Given the description of an element on the screen output the (x, y) to click on. 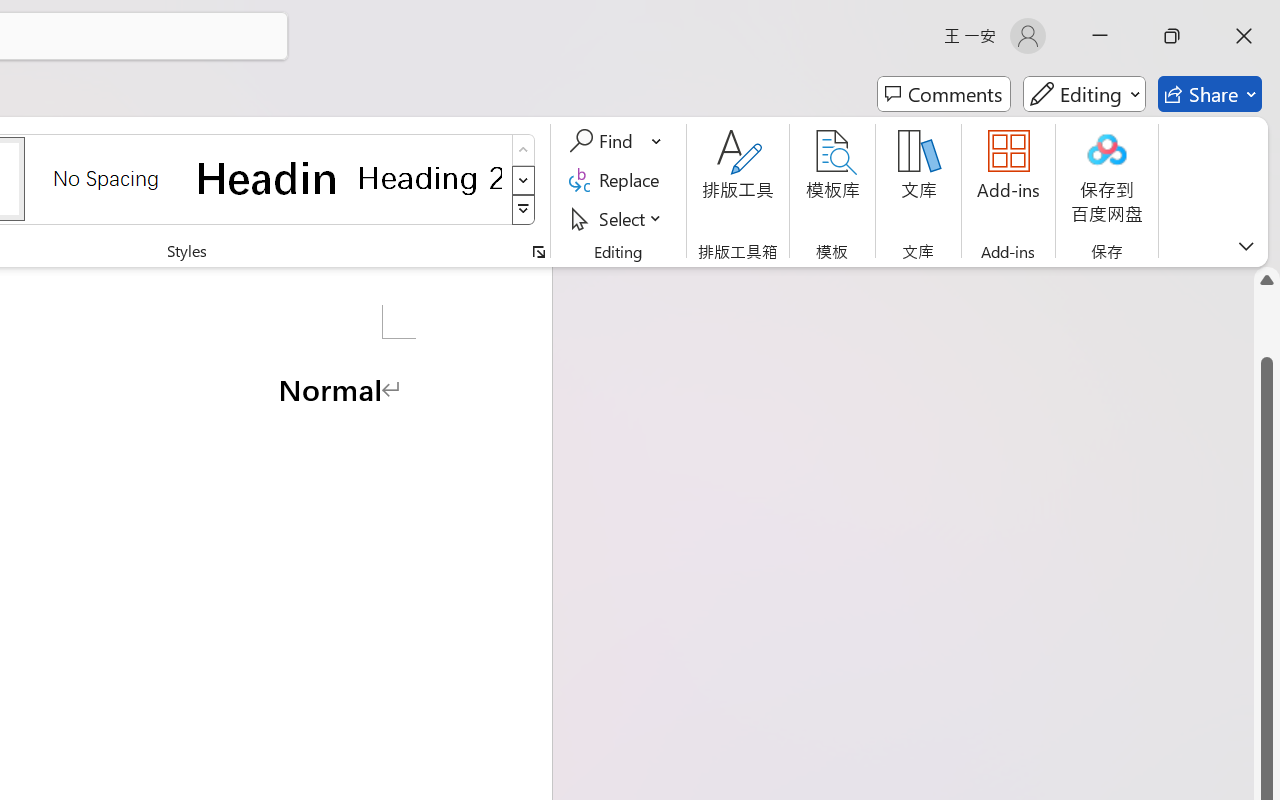
Row up (523, 150)
Replace... (617, 179)
Heading 1 (267, 178)
Mode (1083, 94)
Heading 2 (429, 178)
Styles (523, 209)
